Given the description of an element on the screen output the (x, y) to click on. 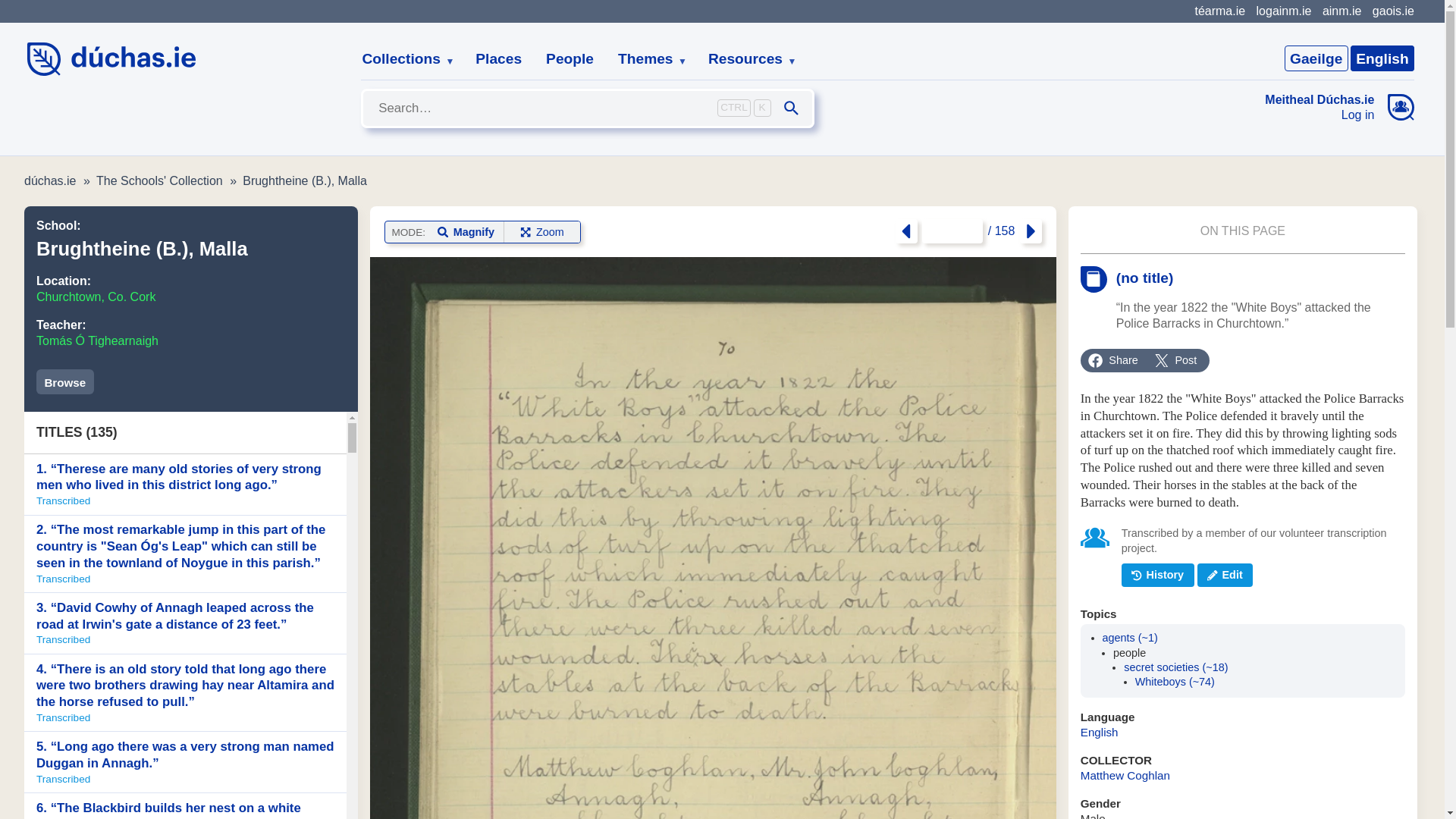
Browse (65, 381)
Places (498, 58)
English (1382, 58)
gaois.ie (1393, 11)
Themes (646, 59)
Resources (745, 59)
The Schools' Collection (159, 180)
ainm.ie (1341, 11)
Collections (401, 59)
Log in (1319, 114)
